Given the description of an element on the screen output the (x, y) to click on. 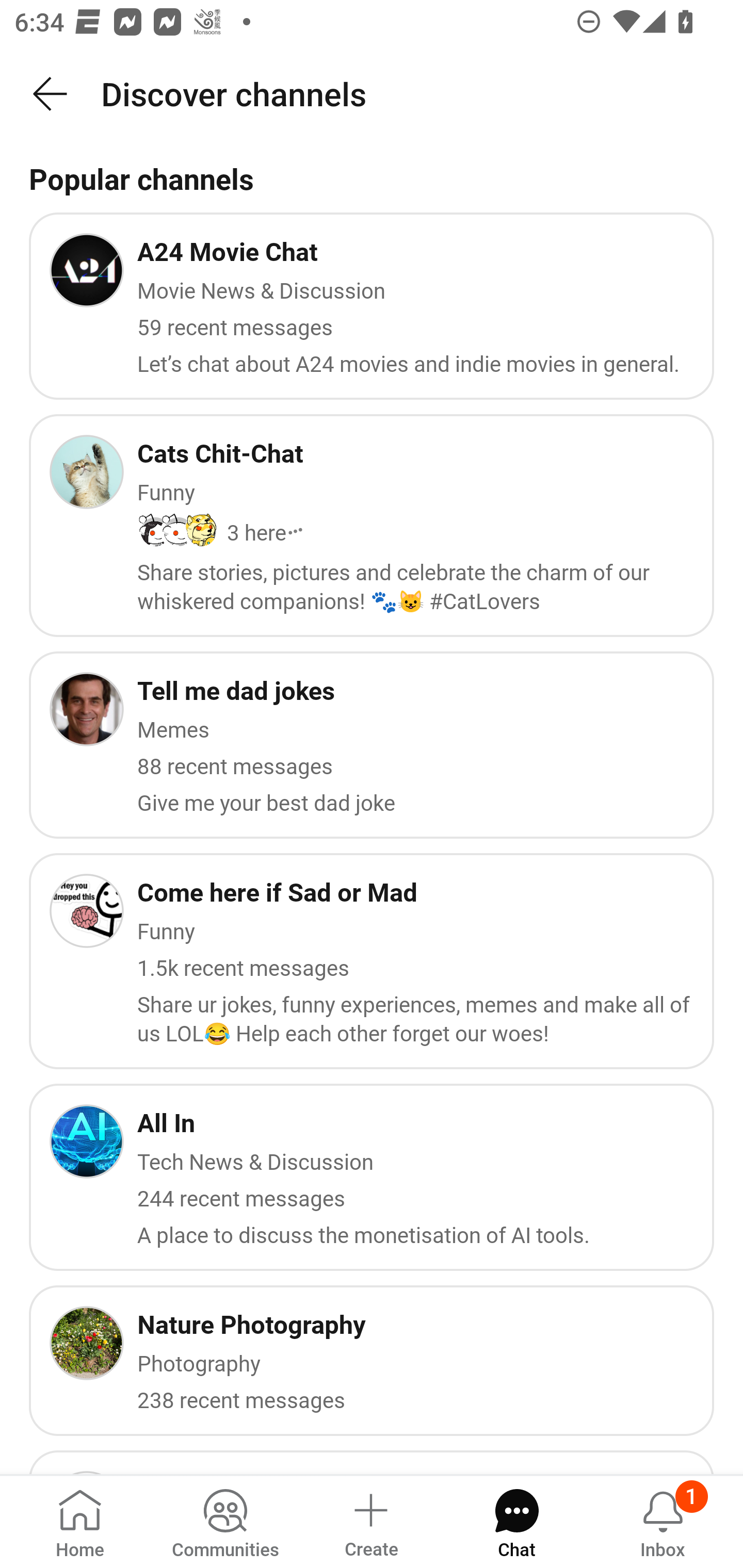
Back (50, 93)
Home (80, 1520)
Communities (225, 1520)
Create a post Create (370, 1520)
Chat (516, 1520)
Inbox, has 1 notification 1 Inbox (662, 1520)
